Given the description of an element on the screen output the (x, y) to click on. 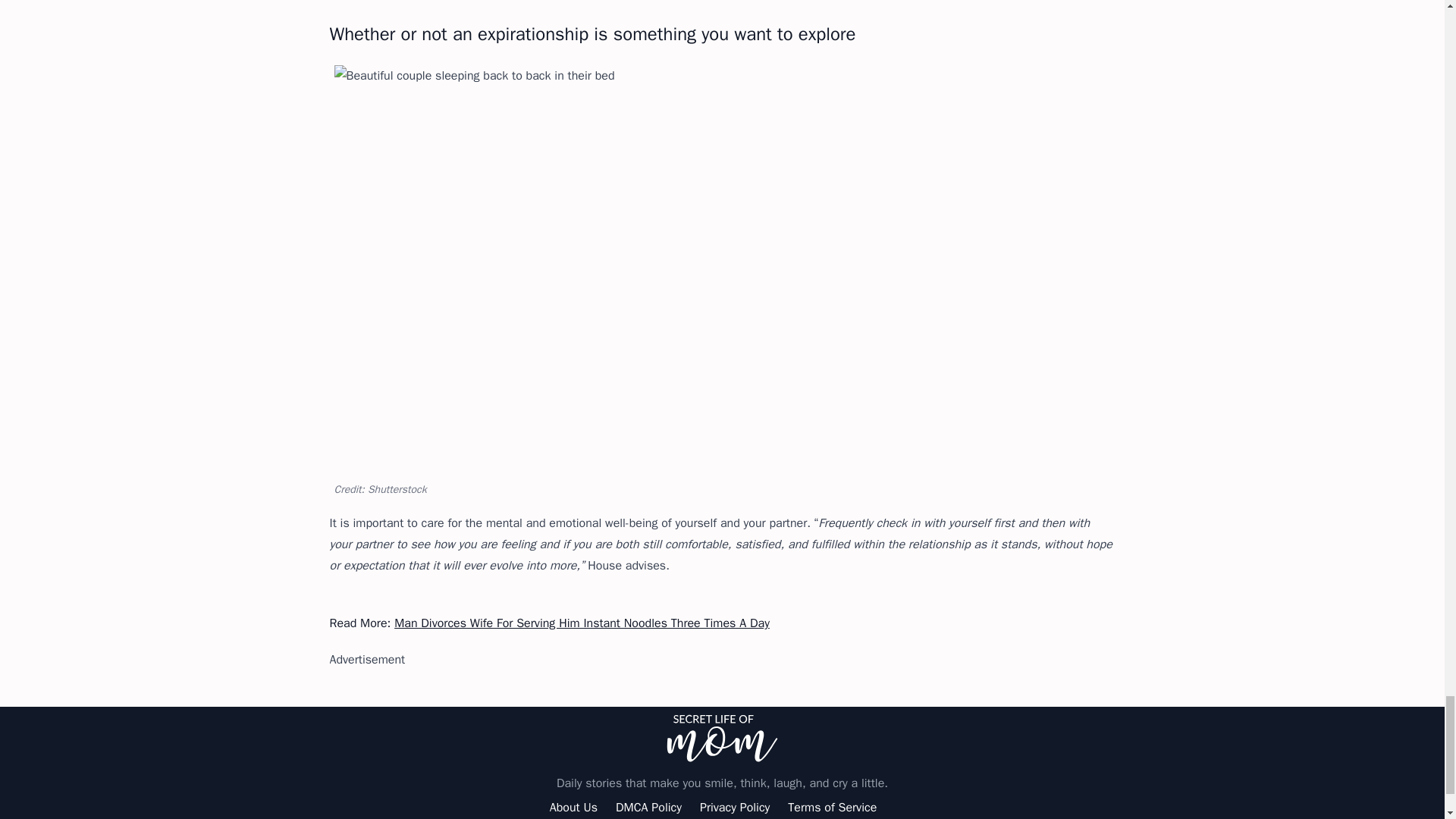
DMCA Policy (648, 807)
About Us (573, 807)
Privacy Policy (735, 807)
Terms of Service (831, 807)
